Given the description of an element on the screen output the (x, y) to click on. 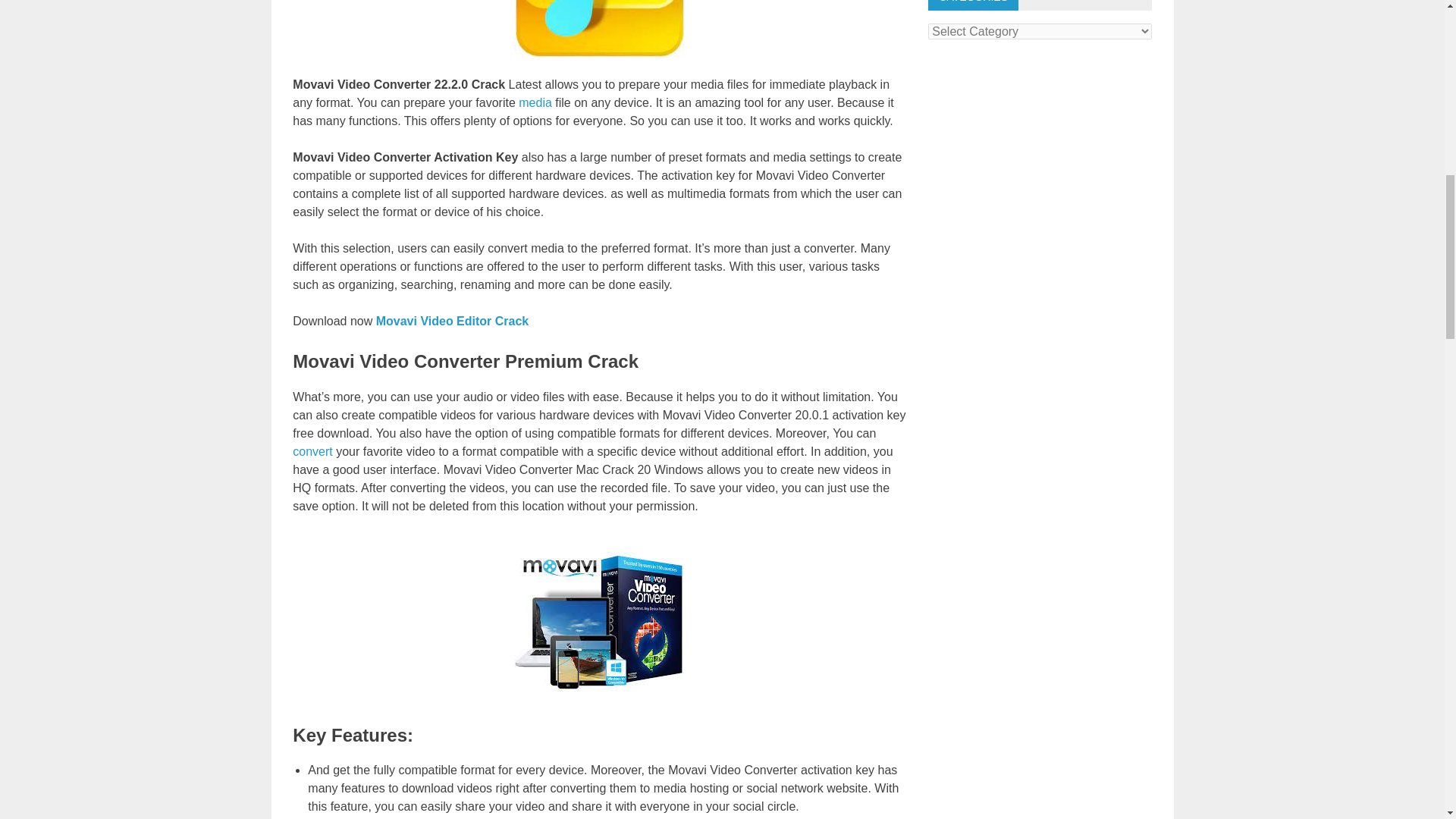
convert (311, 451)
media (534, 102)
 Movavi Video Editor Crack (450, 320)
